Given the description of an element on the screen output the (x, y) to click on. 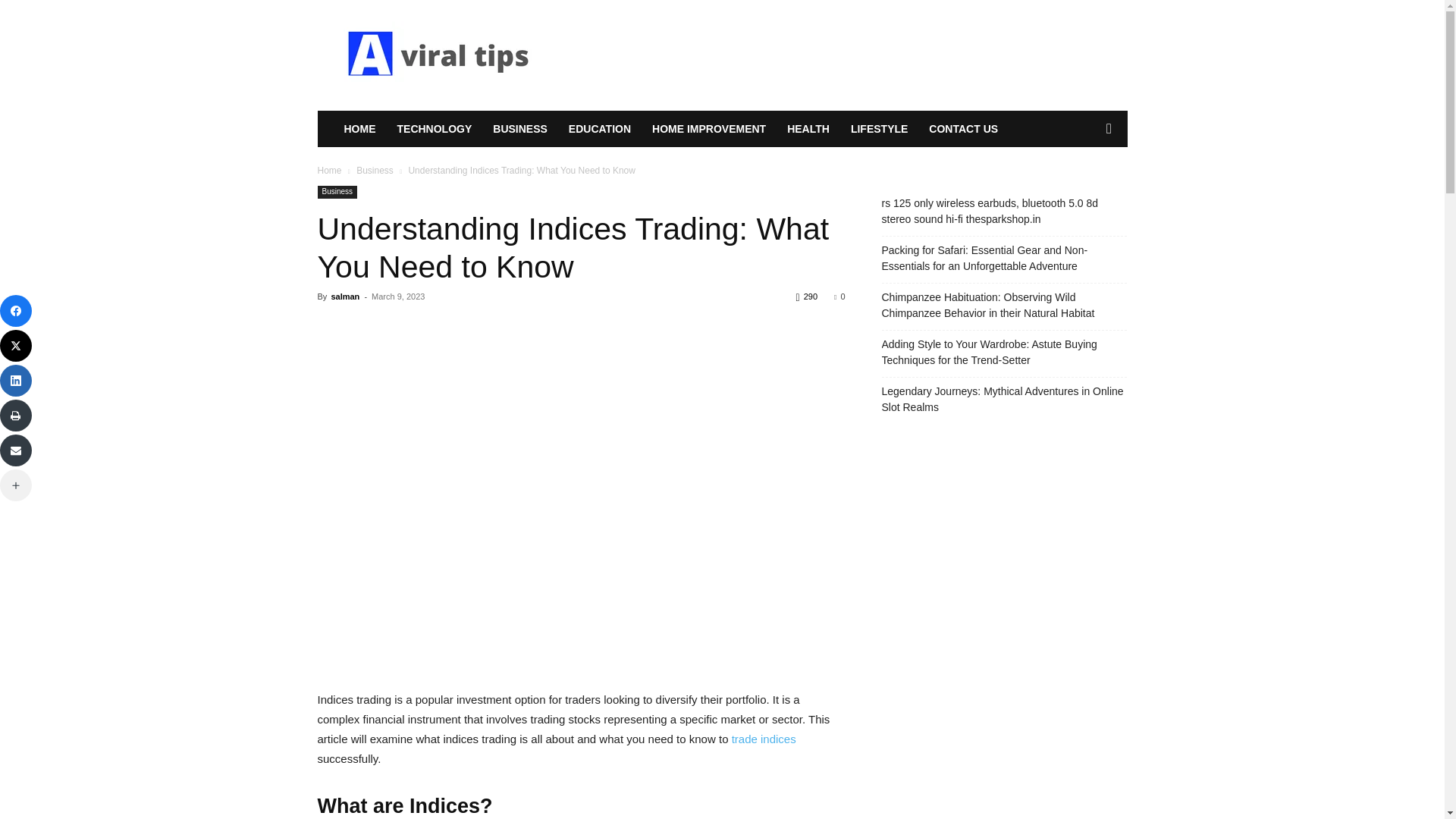
Business (374, 170)
salman (344, 296)
View all posts in Business (374, 170)
HEALTH (808, 128)
Business (336, 192)
HOME IMPROVEMENT (709, 128)
HOME (360, 128)
LIFESTYLE (879, 128)
Search (1085, 189)
Home (328, 170)
0 (839, 296)
BUSINESS (519, 128)
TECHNOLOGY (435, 128)
CONTACT US (963, 128)
EDUCATION (599, 128)
